Given the description of an element on the screen output the (x, y) to click on. 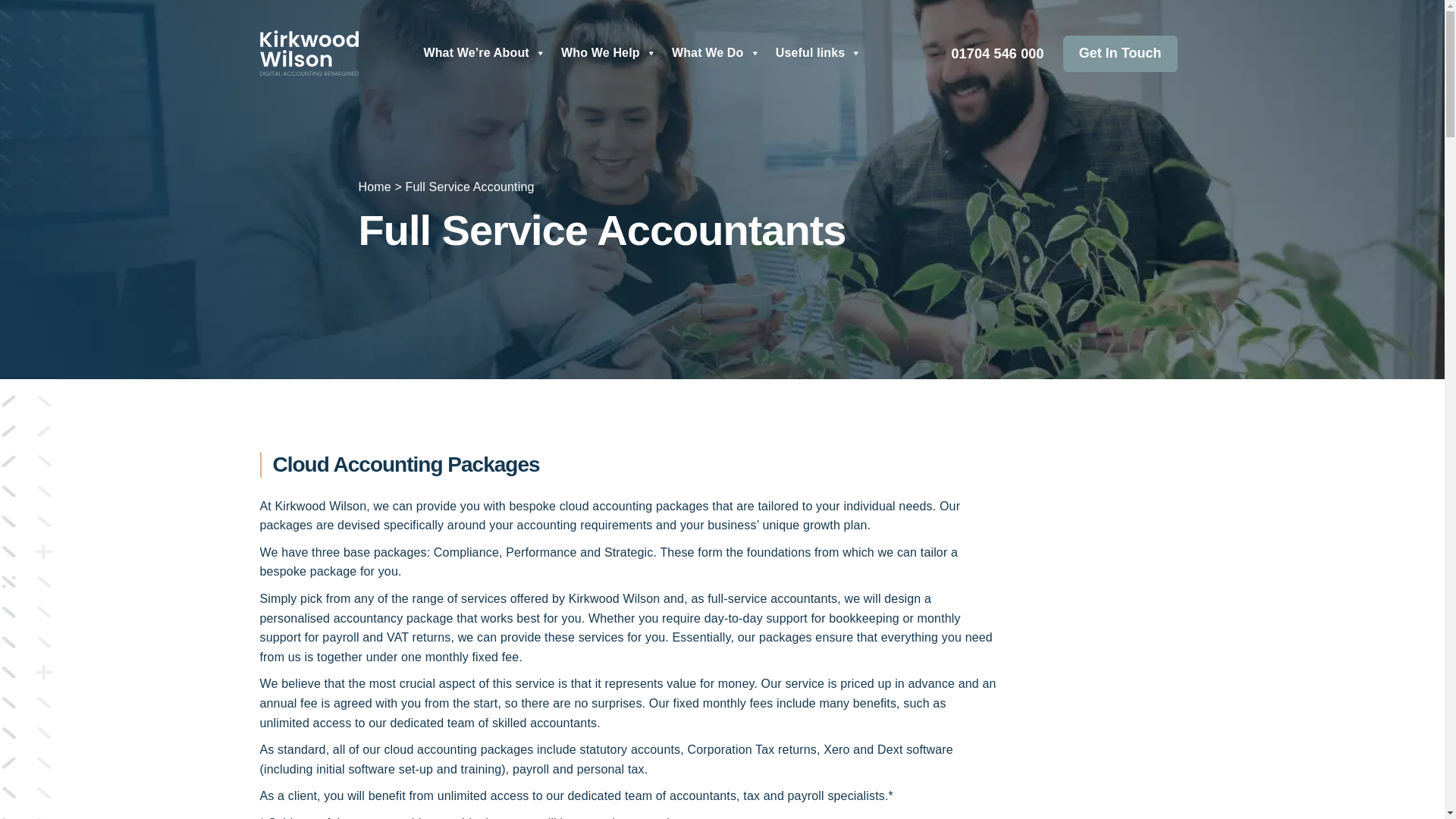
Useful links (818, 52)
01704 546 000 (996, 54)
Home (374, 186)
Get In Touch (1119, 54)
What We Do (715, 52)
Who We Help (608, 52)
